Given the description of an element on the screen output the (x, y) to click on. 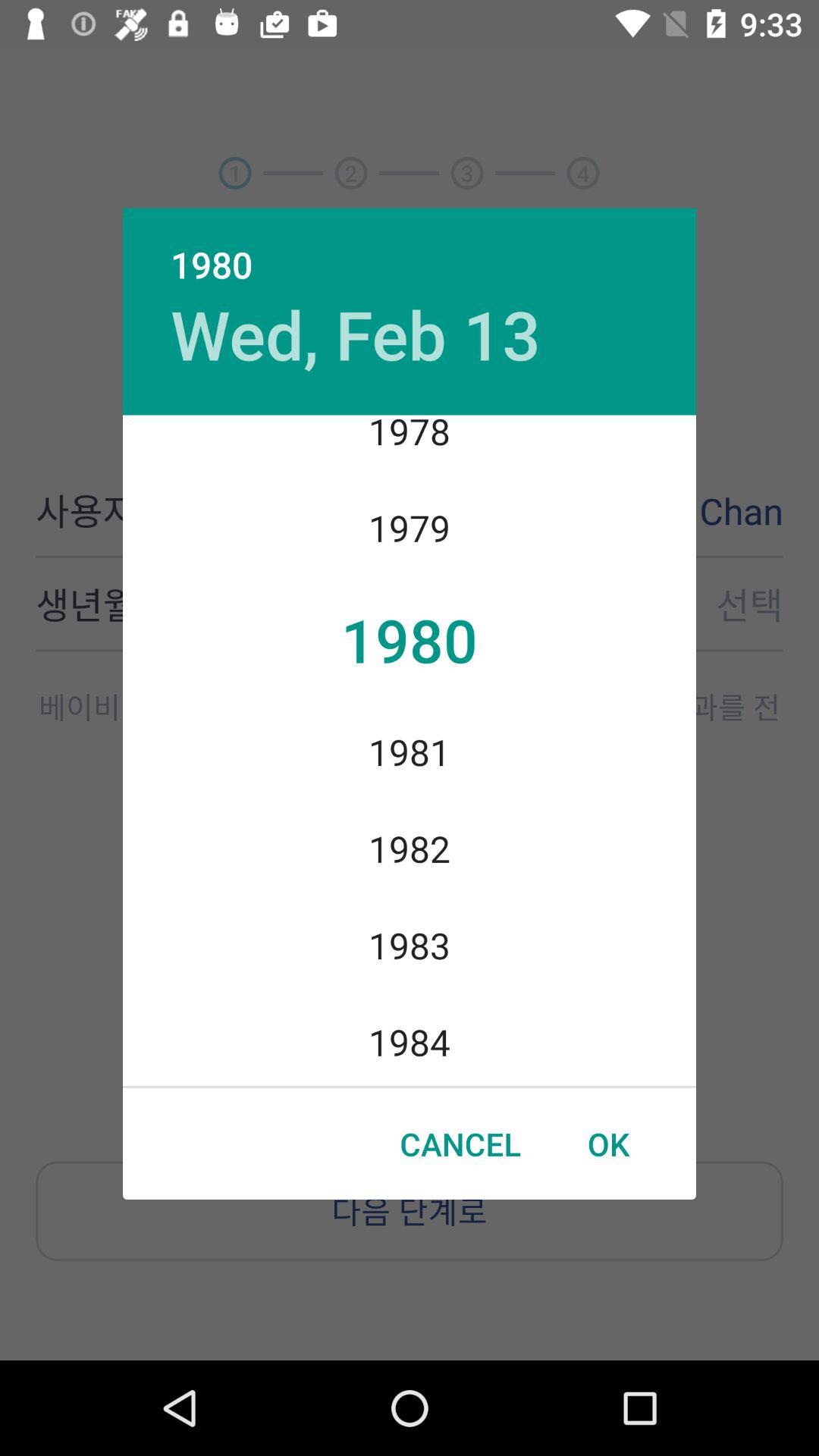
flip until the ok icon (608, 1143)
